Given the description of an element on the screen output the (x, y) to click on. 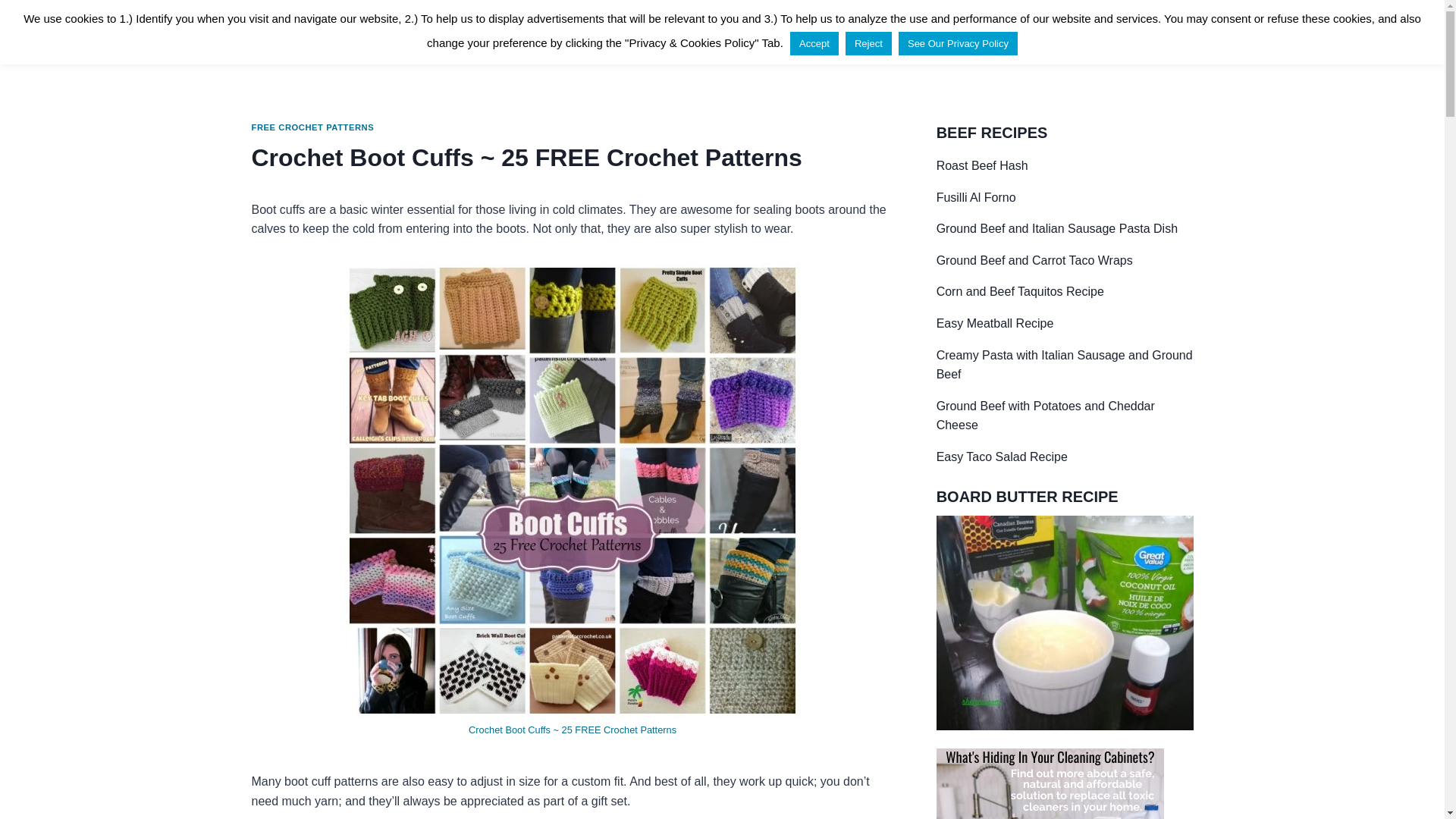
Free Crochet Patterns (1043, 30)
FREE CROCHET PATTERNS (312, 126)
Essential Oil Recipes (819, 30)
Homemaking (926, 30)
Home (673, 30)
Recipes (726, 30)
Subscribe (1158, 30)
